Given the description of an element on the screen output the (x, y) to click on. 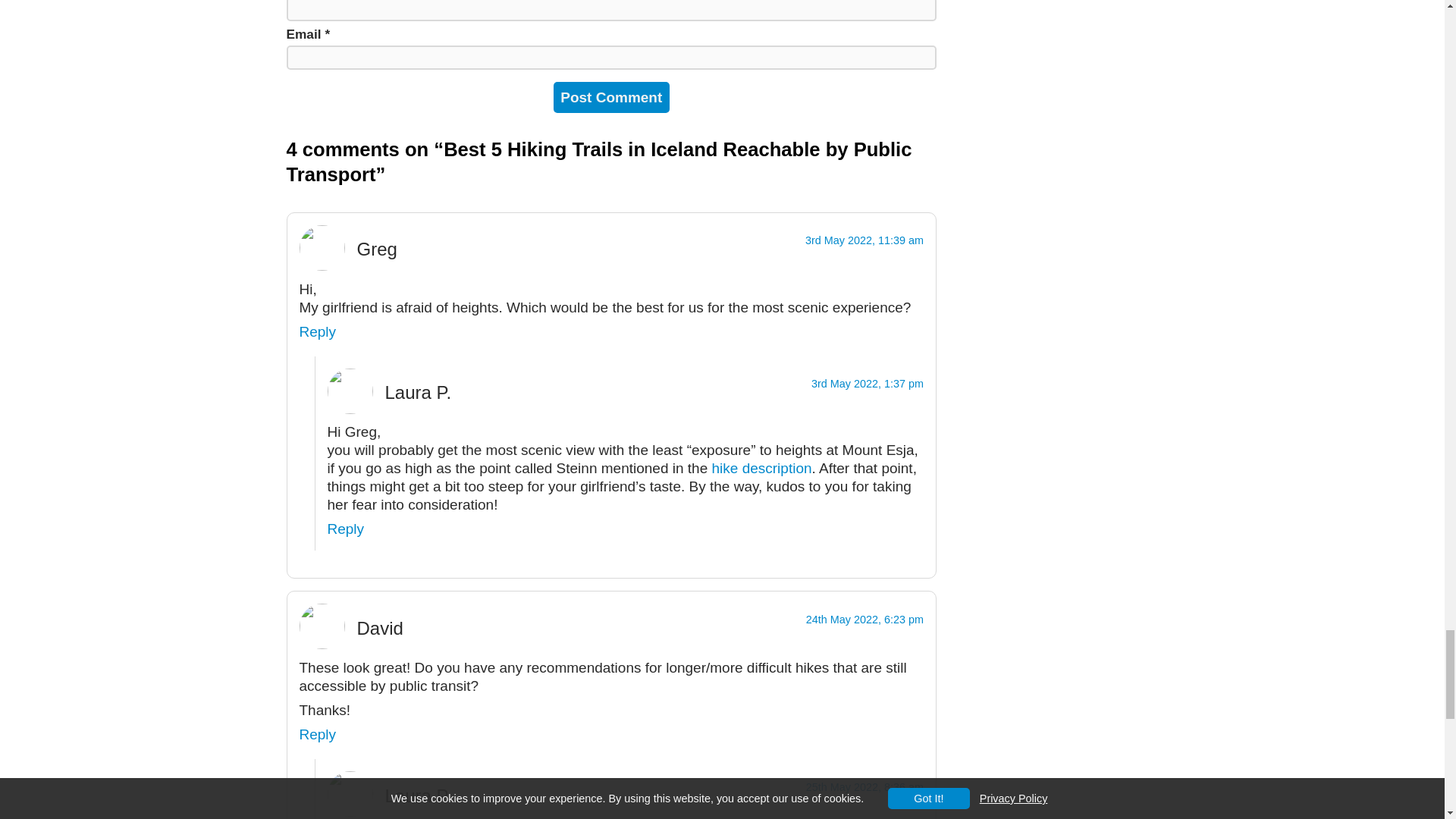
Post Comment (611, 97)
